Given the description of an element on the screen output the (x, y) to click on. 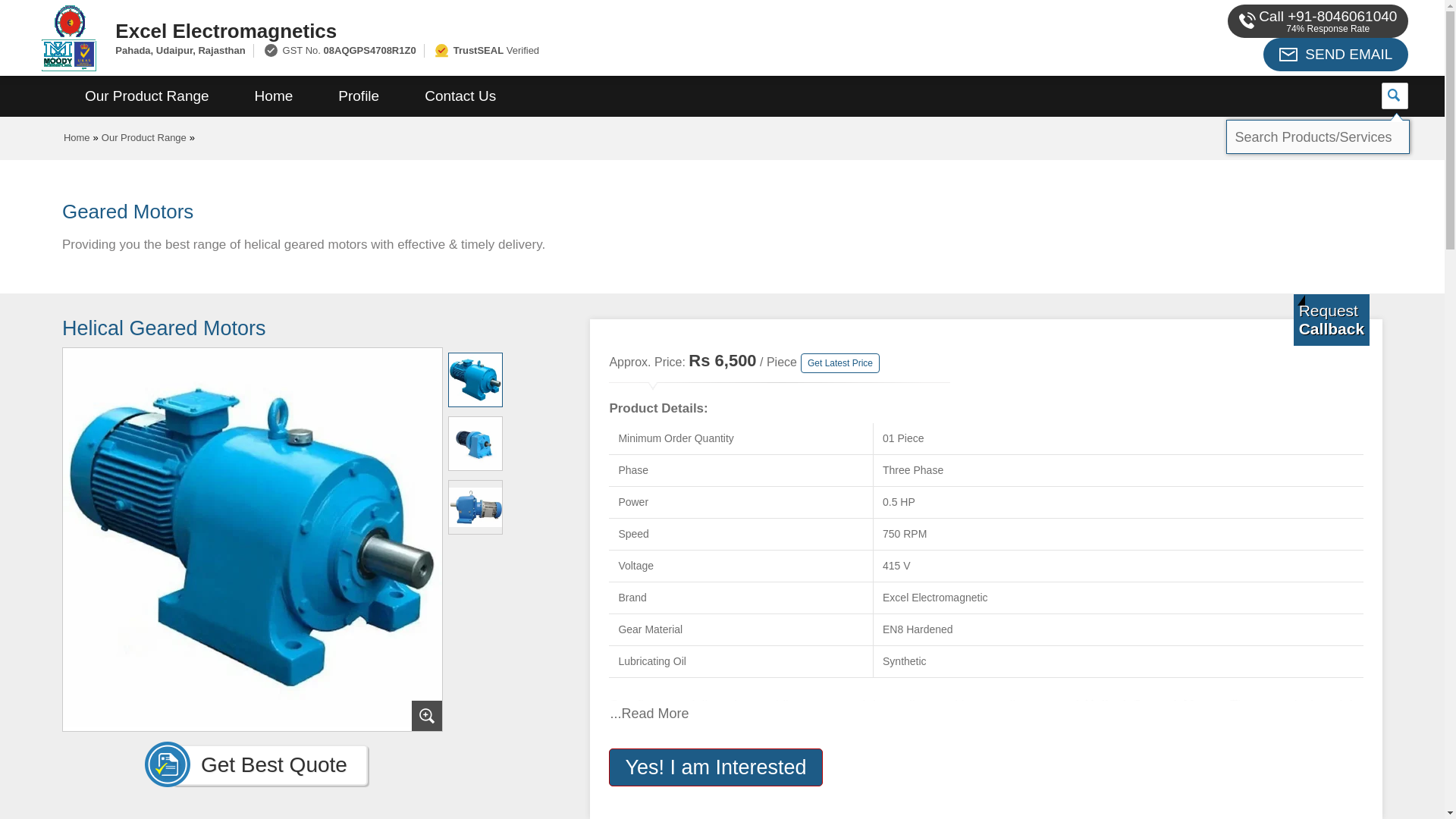
Excel Electromagnetics (552, 31)
Home (77, 137)
Contact Us (459, 96)
Home (273, 96)
Our Product Range (143, 137)
Profile (358, 96)
Our Product Range (146, 96)
Get a Call from us (1332, 319)
